Given the description of an element on the screen output the (x, y) to click on. 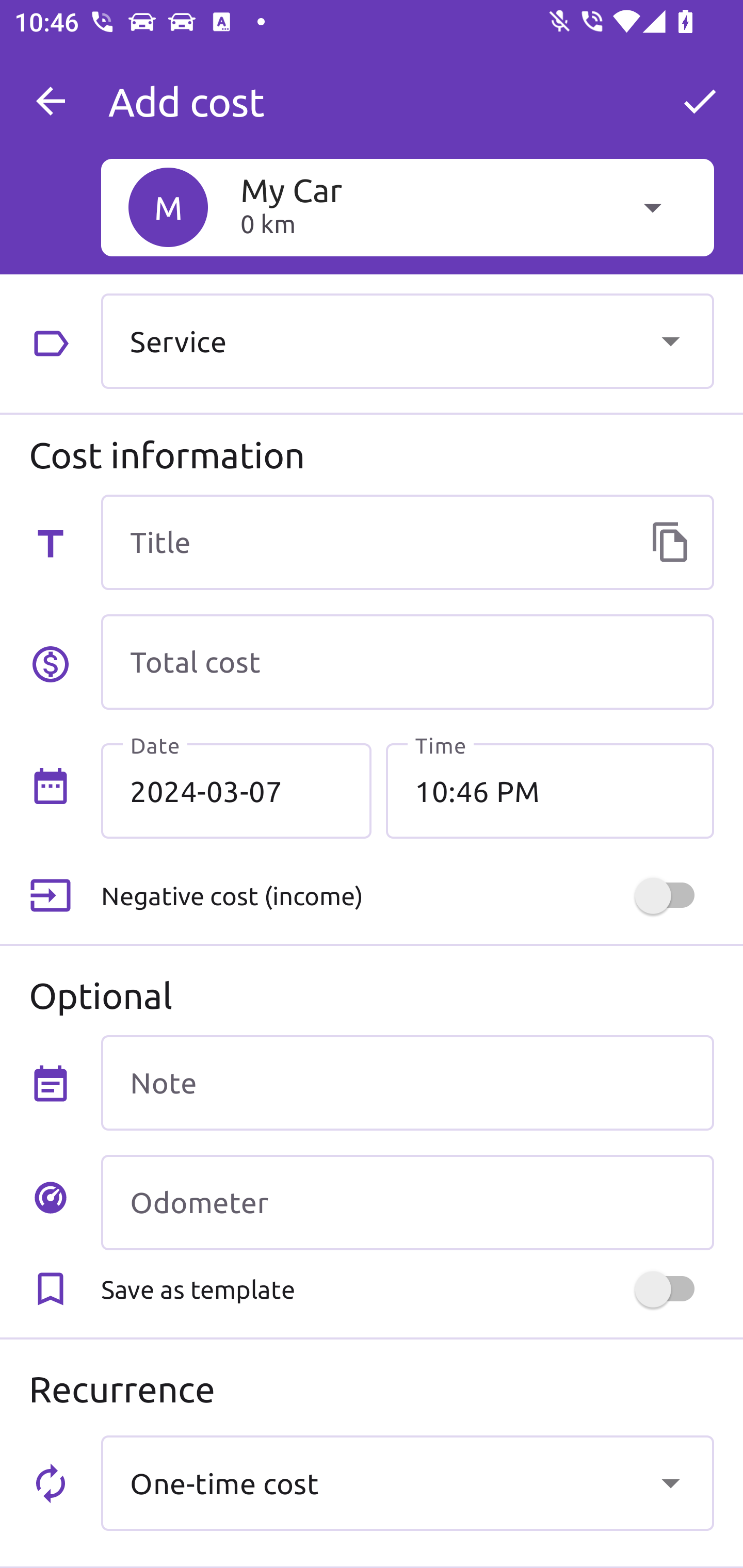
Navigate up (50, 101)
OK (699, 101)
M My Car 0 km (407, 206)
Service (407, 340)
Show dropdown menu (670, 340)
Title (407, 541)
Templates (670, 541)
Total cost  (407, 662)
2024-03-07 (236, 790)
10:46 PM (549, 790)
Negative cost (income) (407, 895)
Note (407, 1082)
Odometer (407, 1202)
Save as template (407, 1289)
One-time cost (407, 1482)
Show dropdown menu (670, 1482)
